Given the description of an element on the screen output the (x, y) to click on. 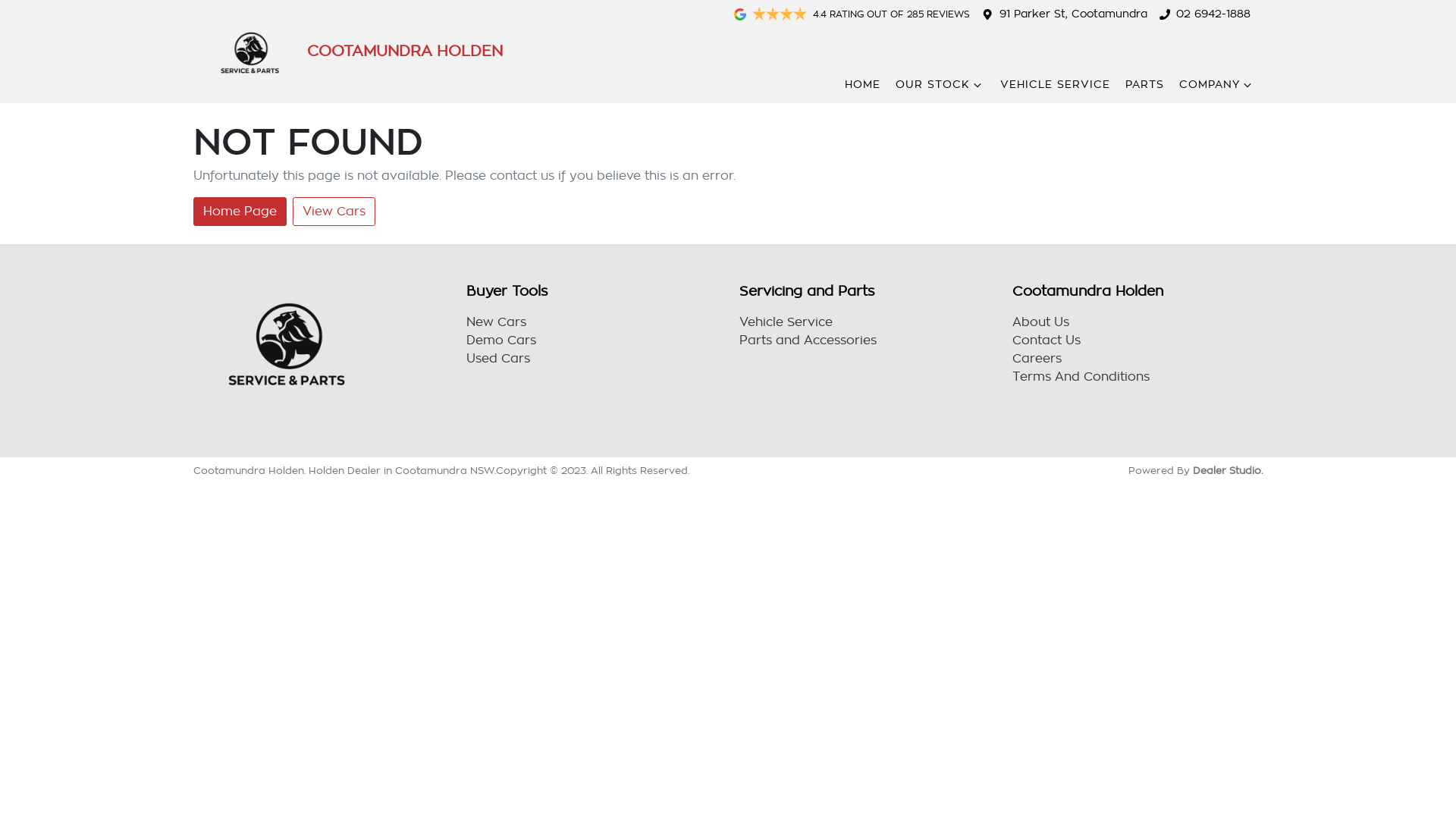
New Cars Element type: text (496, 322)
COMPANY Element type: text (1216, 84)
Terms And Conditions Element type: text (1080, 376)
Dealer Studio. Element type: text (1227, 470)
91 Parker St, Cootamundra Element type: text (1073, 13)
About Us Element type: text (1040, 322)
PARTS Element type: text (1144, 84)
02 6942-1888 Element type: text (1213, 13)
Vehicle Service Element type: text (785, 322)
VEHICLE SERVICE Element type: text (1055, 84)
Contact Us Element type: text (1046, 340)
HOME Element type: text (862, 84)
COOTAMUNDRA HOLDEN Element type: text (347, 51)
Parts and Accessories Element type: text (807, 340)
View Cars Element type: text (333, 211)
Demo Cars Element type: text (501, 340)
Used Cars Element type: text (498, 358)
Home Page Element type: text (239, 211)
Careers Element type: text (1036, 358)
OUR STOCK Element type: text (940, 84)
